Given the description of an element on the screen output the (x, y) to click on. 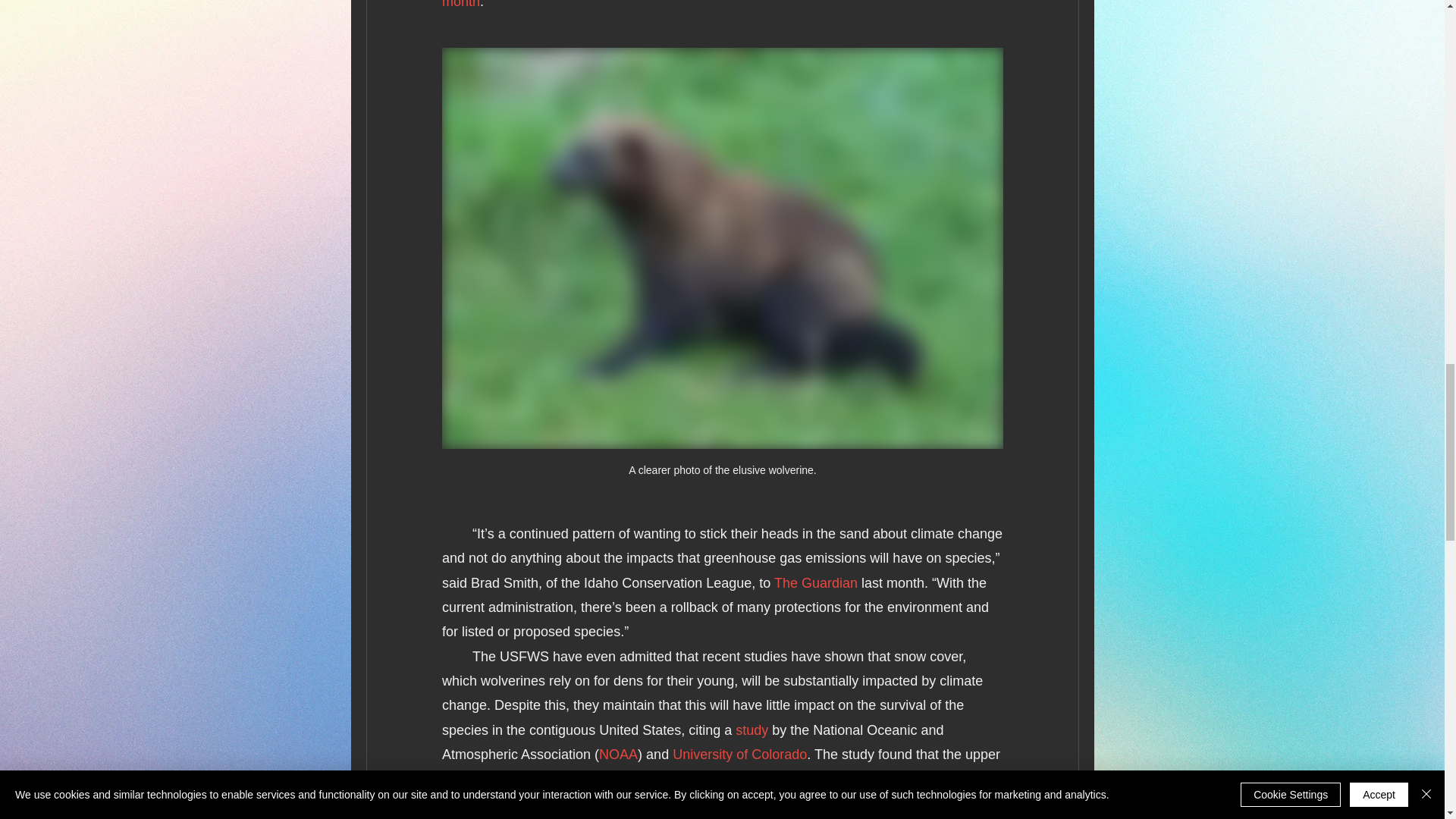
withdrawn again last month (722, 4)
The Guardian (815, 582)
study (751, 729)
University of Colorado (739, 754)
NOAA (617, 754)
